Given the description of an element on the screen output the (x, y) to click on. 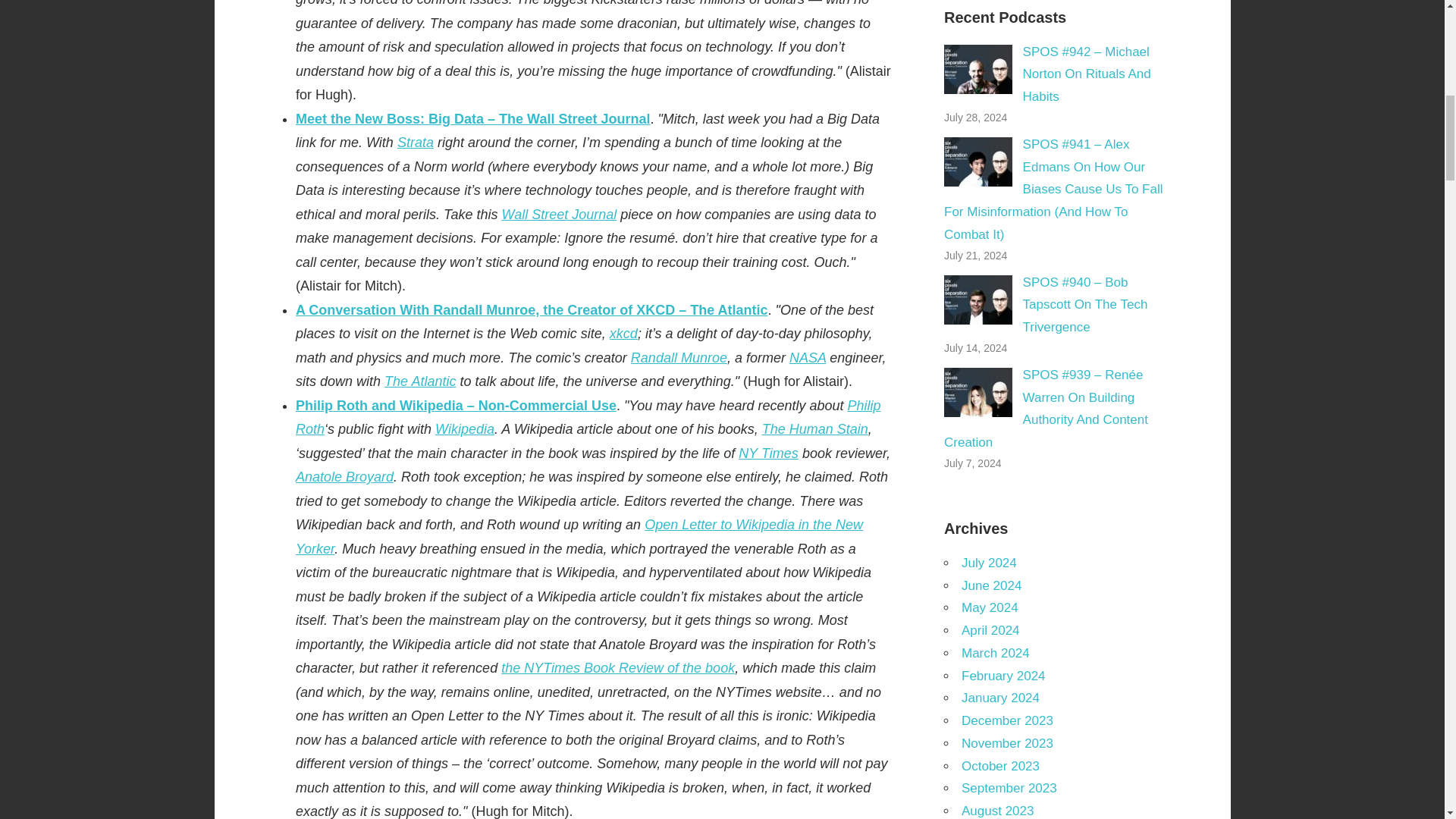
Strata (415, 142)
Wall Street Journal (557, 214)
